Given the description of an element on the screen output the (x, y) to click on. 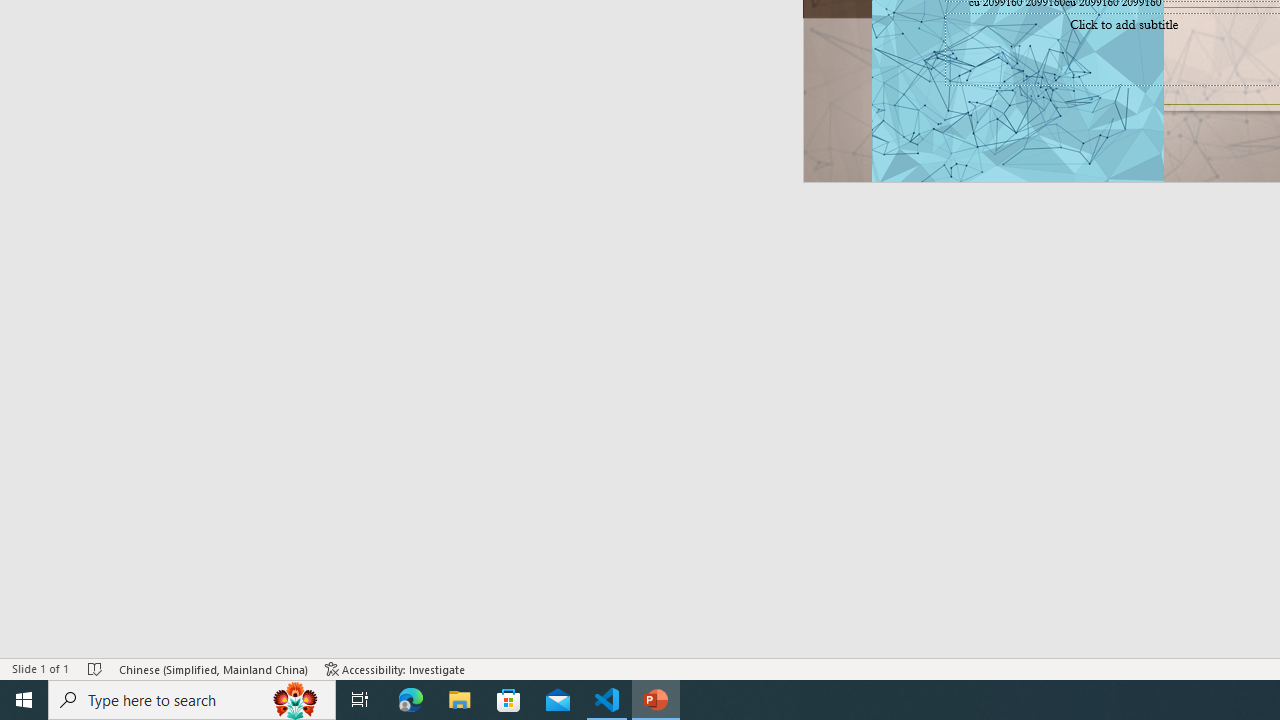
Accessibility Checker Accessibility: Investigate (395, 668)
Spell Check No Errors (95, 668)
